Given the description of an element on the screen output the (x, y) to click on. 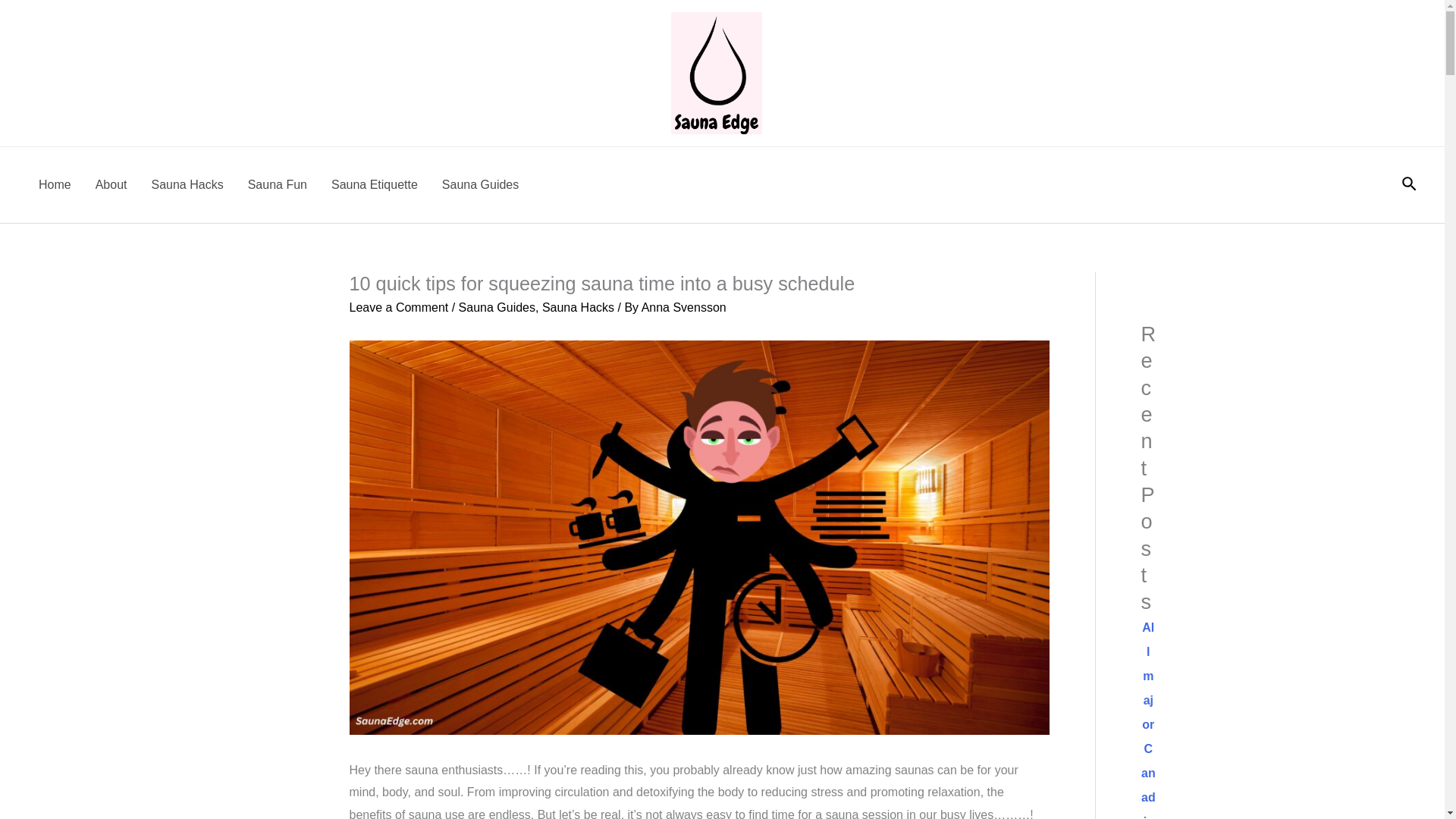
Sauna Hacks (187, 184)
Sauna Etiquette (373, 184)
Sauna Guides (496, 307)
Sauna Hacks (577, 307)
Sauna Guides (480, 184)
Anna Svensson (684, 307)
View all posts by Anna Svensson (684, 307)
Leave a Comment (398, 307)
Sauna Fun (276, 184)
